Given the description of an element on the screen output the (x, y) to click on. 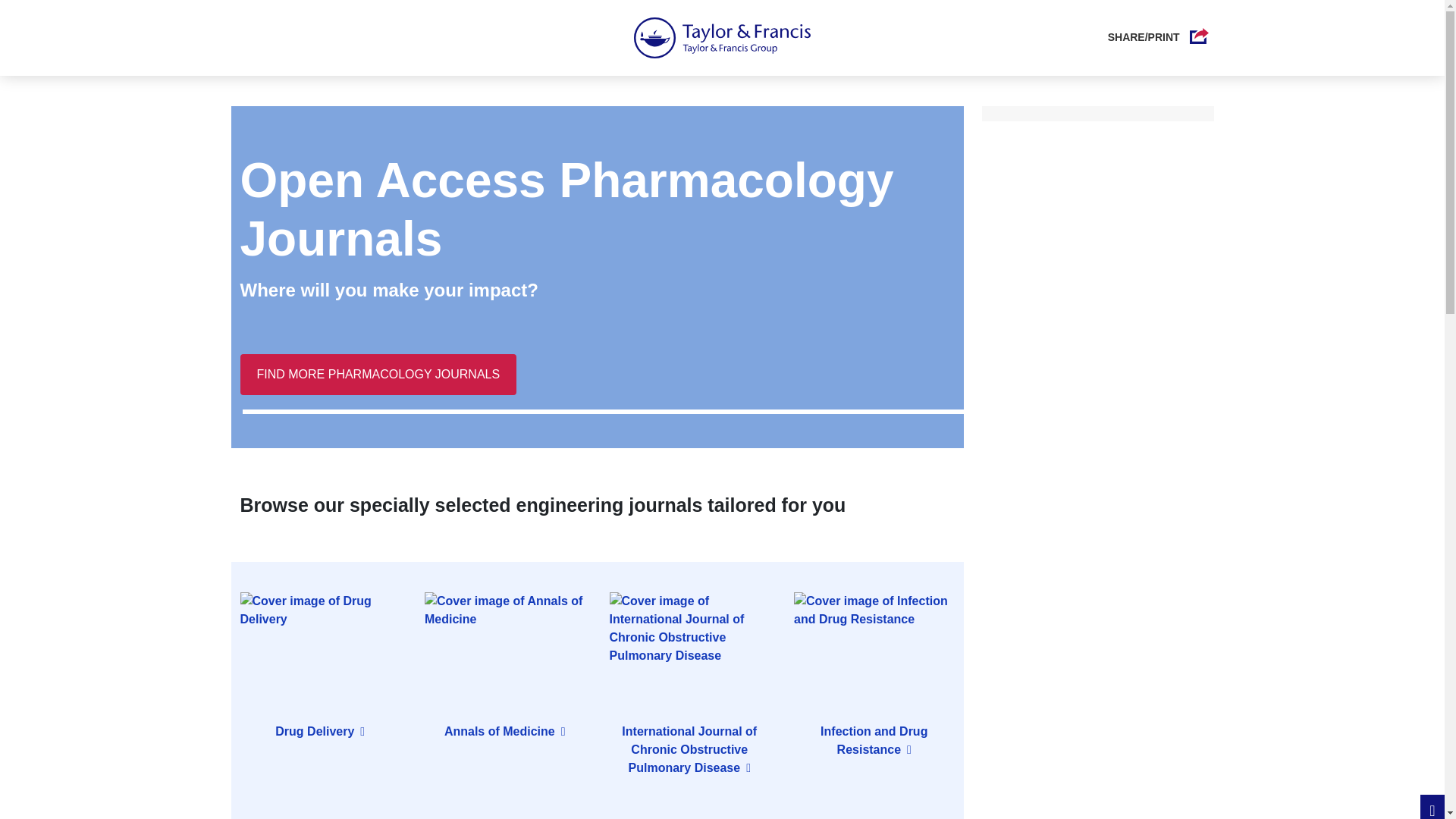
opens a new window (689, 748)
Annals of Medicine (505, 730)
Infection and Drug Resistance (874, 739)
opens a new window (505, 730)
opens a new window (320, 730)
FIND MORE PHARMACOLOGY JOURNALS (378, 373)
Share or print (1144, 36)
opens a new window (874, 739)
Drug Delivery (320, 730)
